Given the description of an element on the screen output the (x, y) to click on. 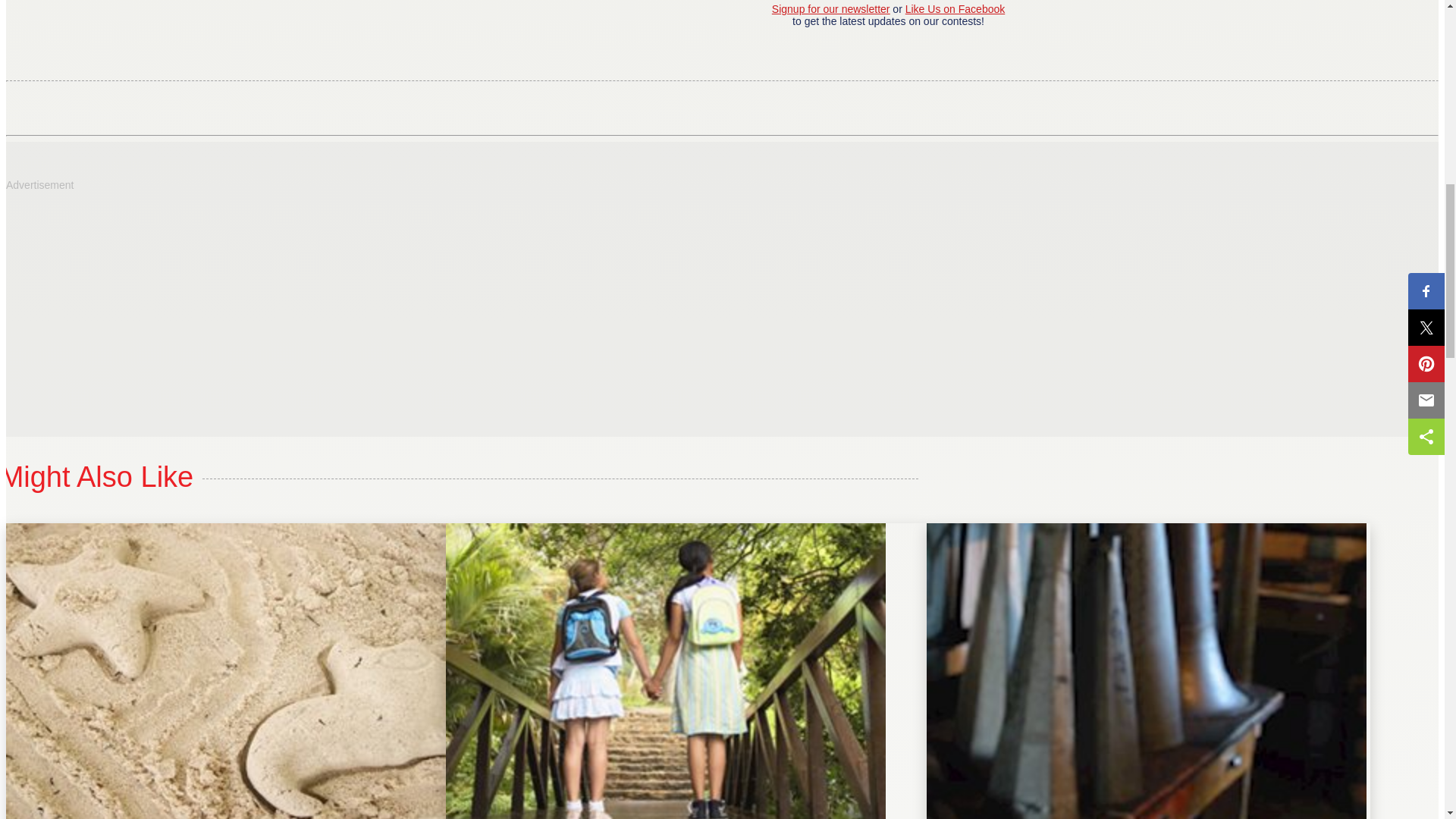
3rd party ad content (118, 296)
